Given the description of an element on the screen output the (x, y) to click on. 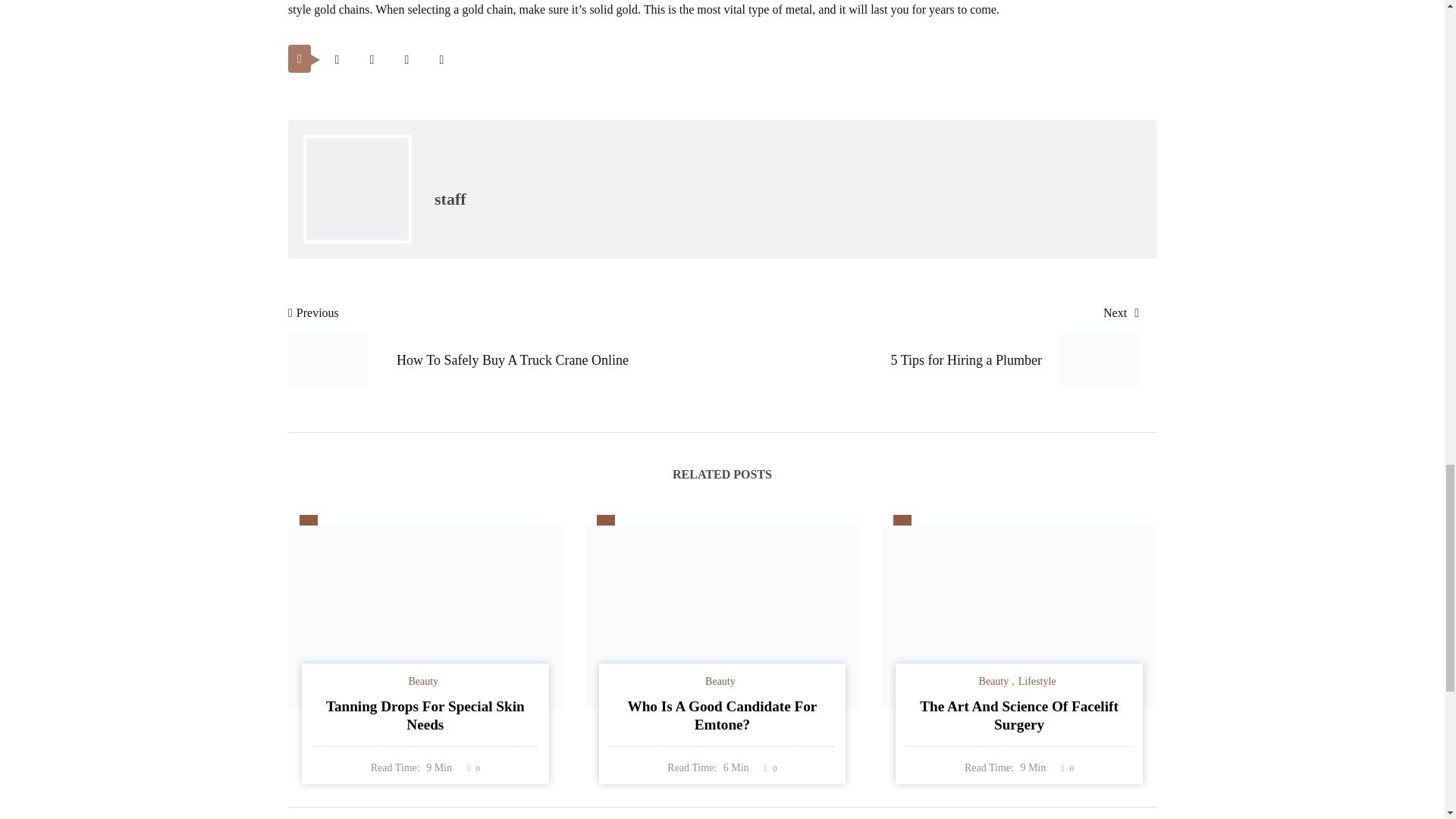
Share on Linkedin (441, 58)
Share on Facebook (371, 58)
Share on Pinterest (406, 58)
Tweet This! (336, 58)
